Given the description of an element on the screen output the (x, y) to click on. 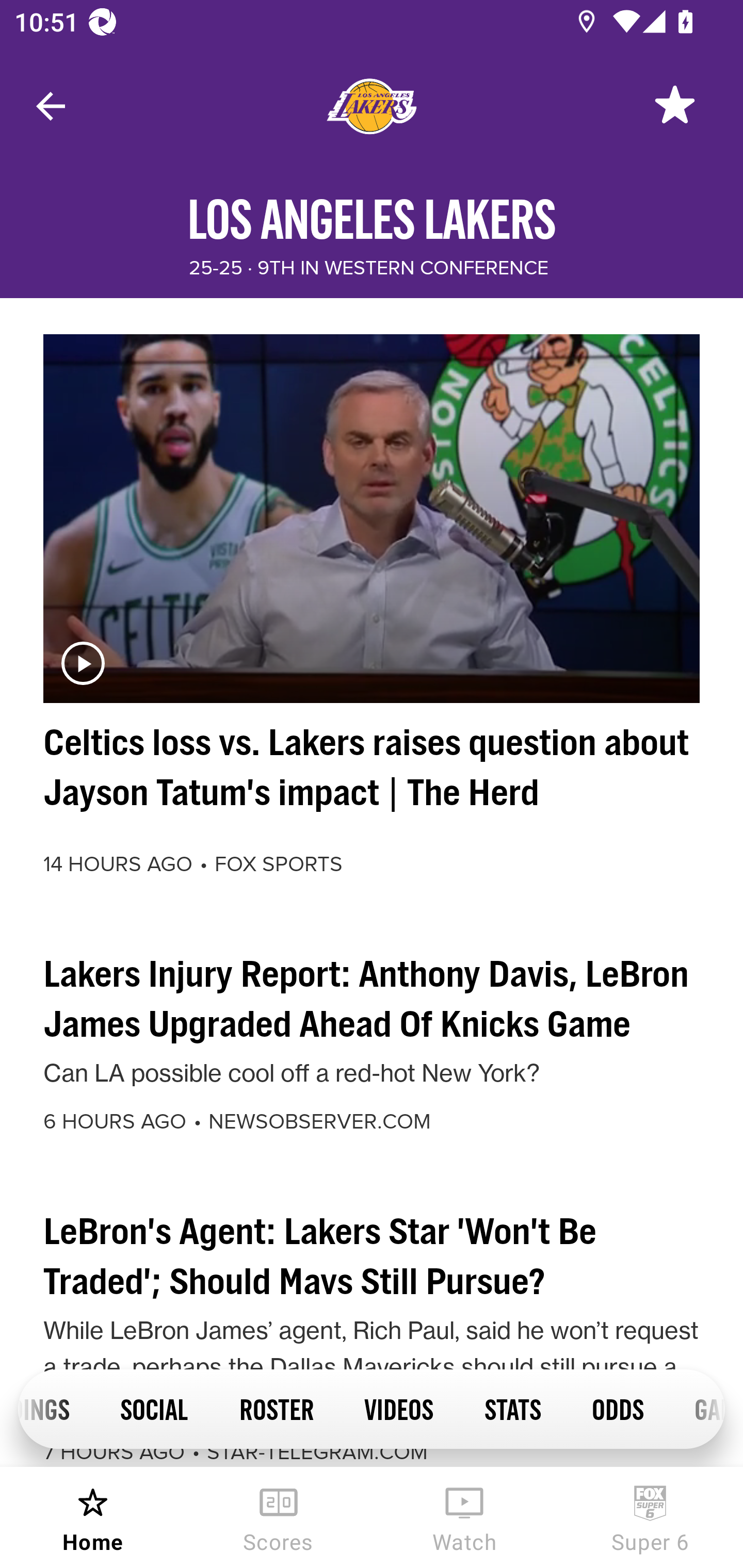
Navigate up (50, 106)
25-25 · 9TH IN WESTERN CONFERENCE (368, 267)
SOCIAL (154, 1408)
ROSTER (275, 1408)
VIDEOS (398, 1408)
STATS (512, 1408)
ODDS (617, 1408)
Scores (278, 1517)
Watch (464, 1517)
Super 6 (650, 1517)
